Given the description of an element on the screen output the (x, y) to click on. 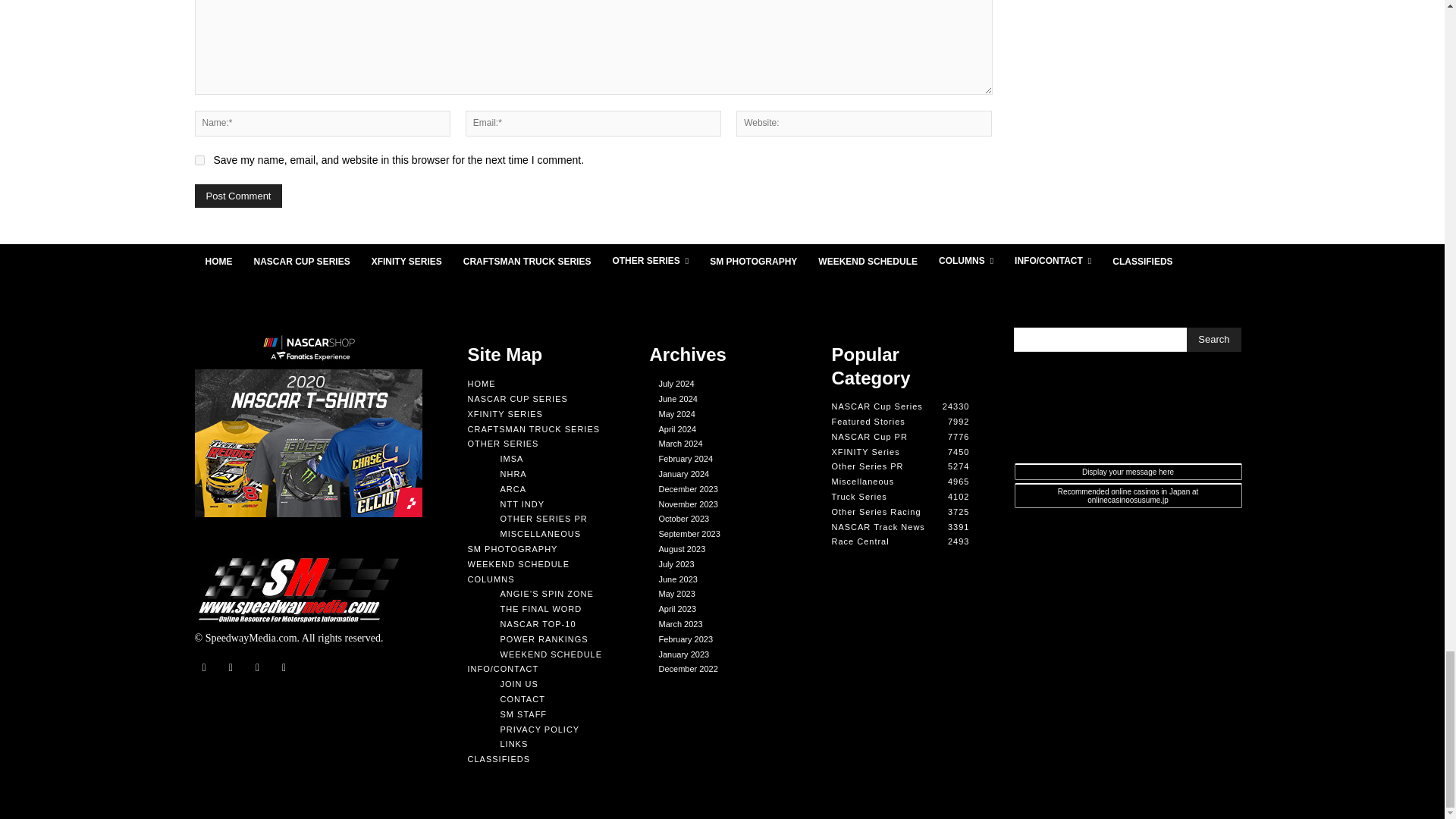
yes (198, 160)
Post Comment (237, 196)
